Given the description of an element on the screen output the (x, y) to click on. 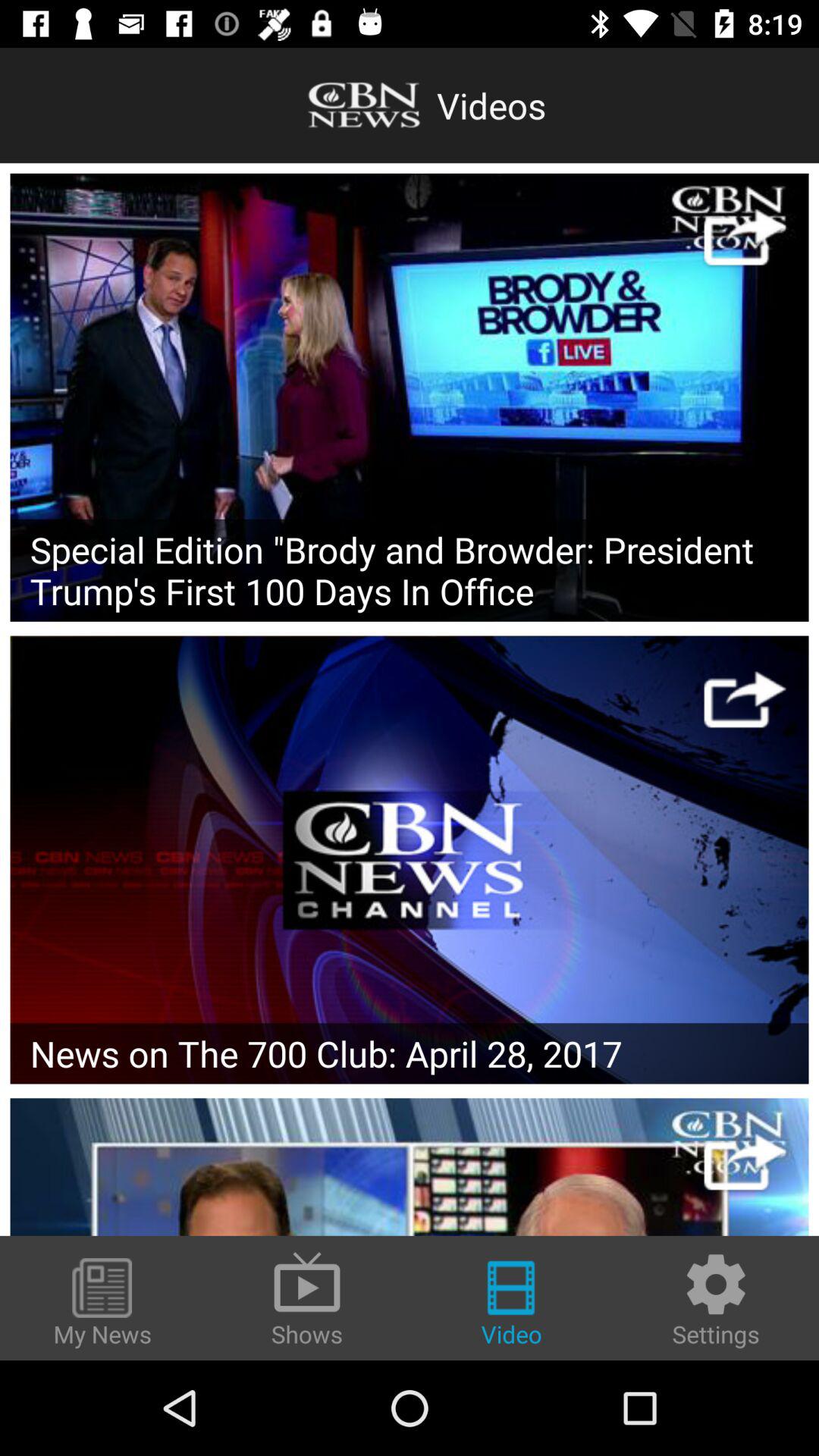
to share the news (744, 699)
